Given the description of an element on the screen output the (x, y) to click on. 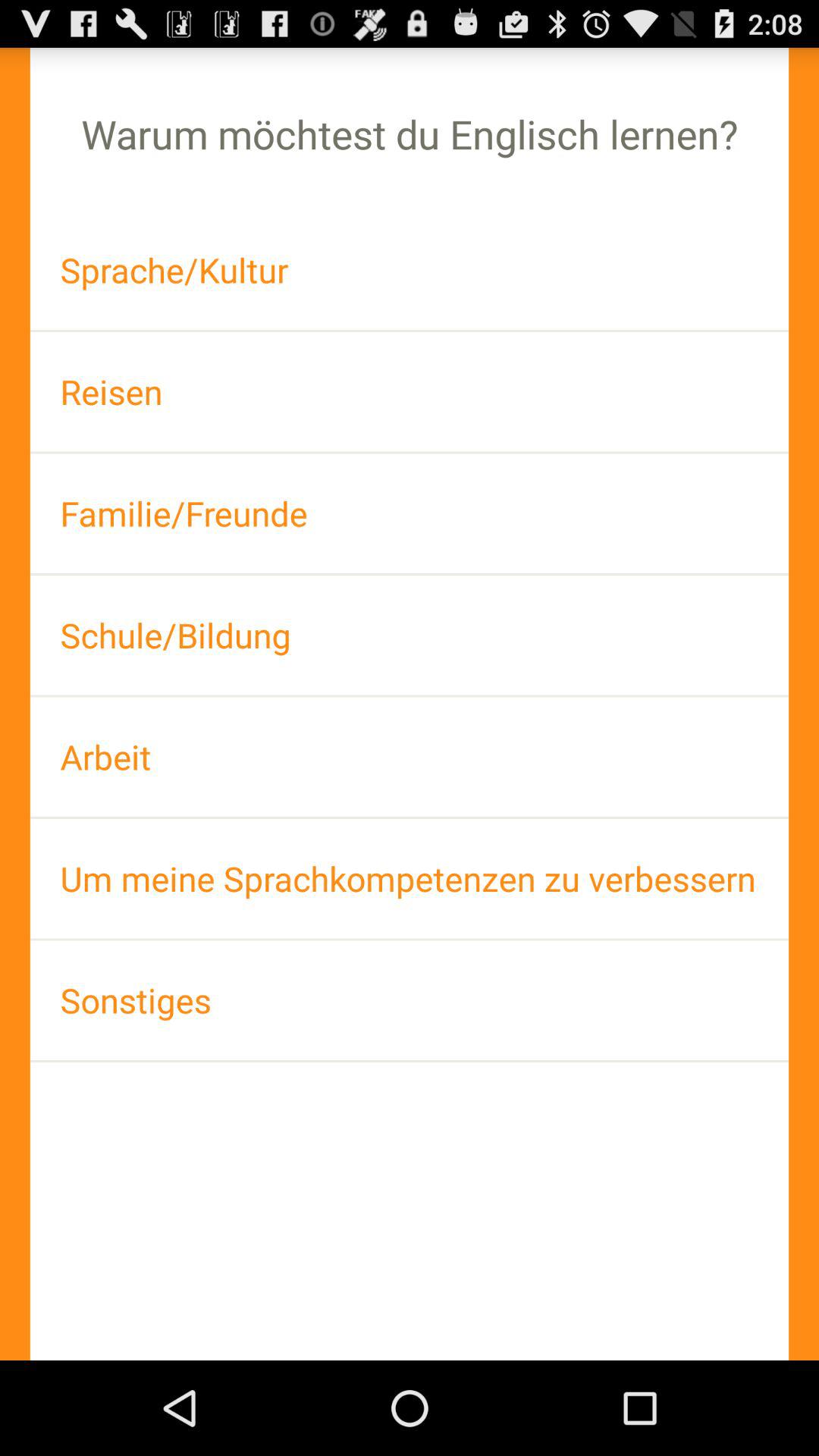
turn on the icon above schule/bildung item (409, 513)
